Given the description of an element on the screen output the (x, y) to click on. 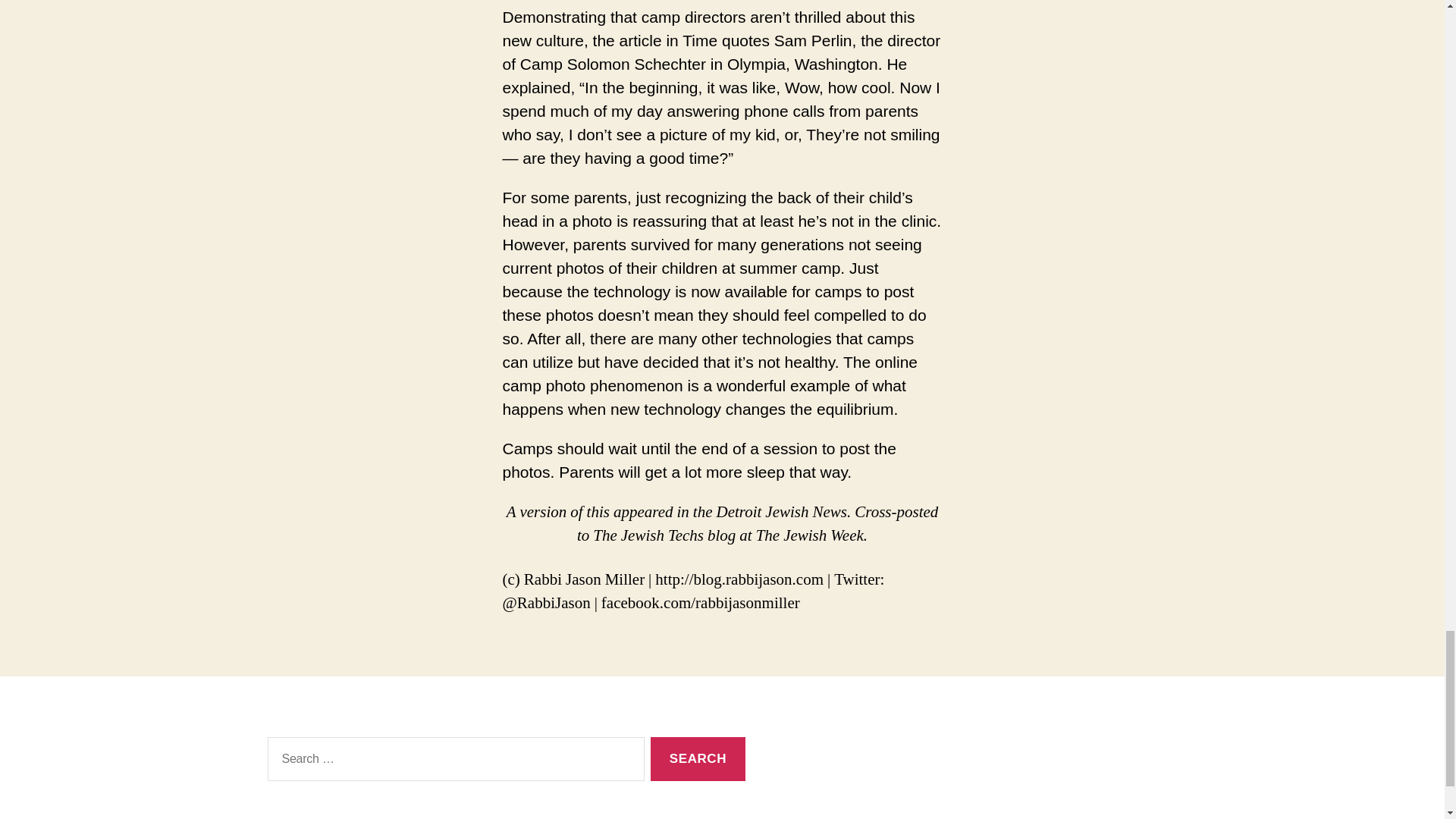
Search (697, 759)
Search (697, 759)
